Given the description of an element on the screen output the (x, y) to click on. 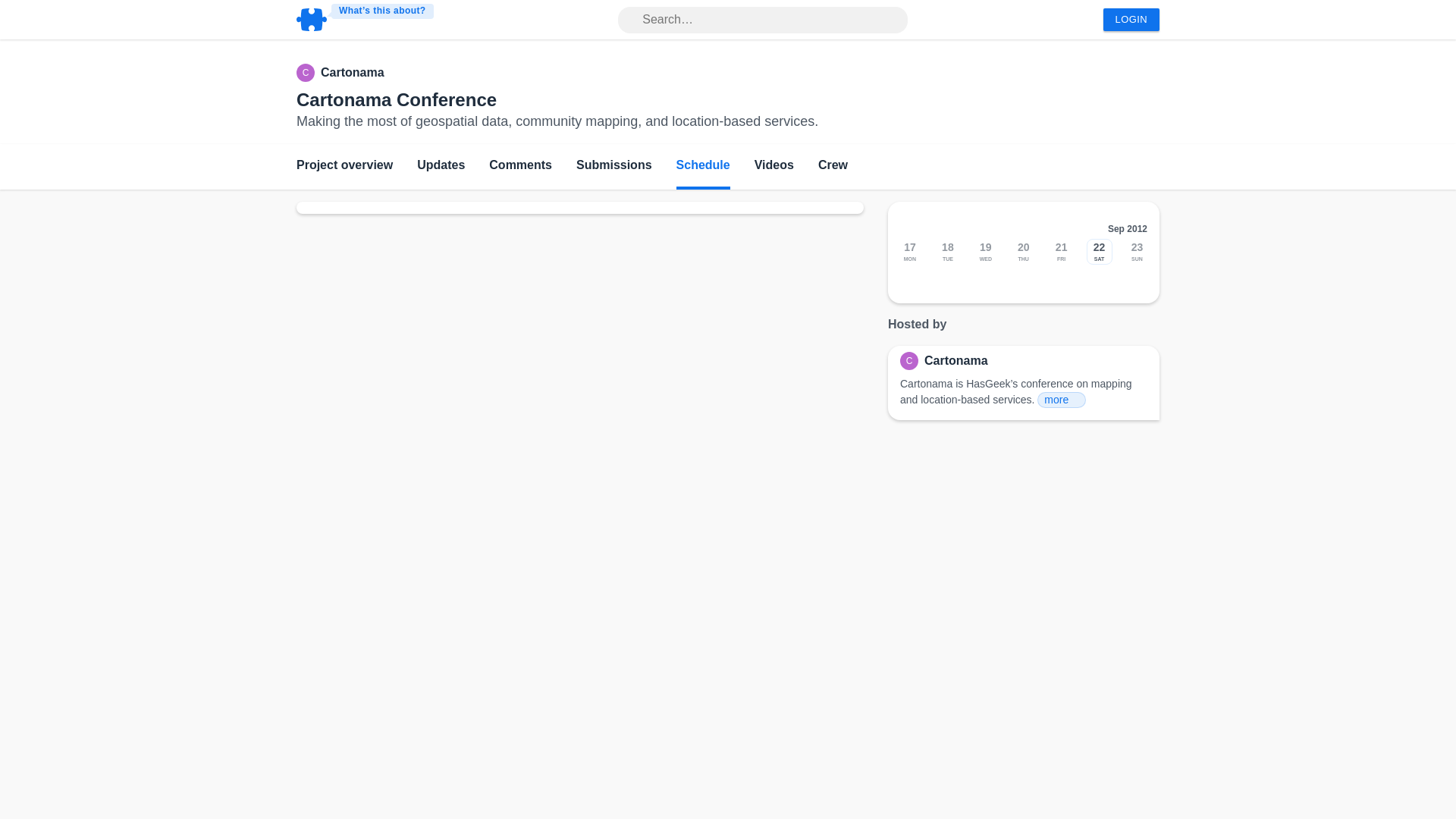
Cartonama (352, 72)
Cartonama (956, 361)
Cartonama Conference (396, 99)
Submissions (614, 166)
Project overview (345, 166)
Comments (520, 166)
more (1061, 399)
C (911, 361)
LOGIN (1130, 19)
Schedule (703, 166)
C (308, 72)
Updates (440, 166)
